Given the description of an element on the screen output the (x, y) to click on. 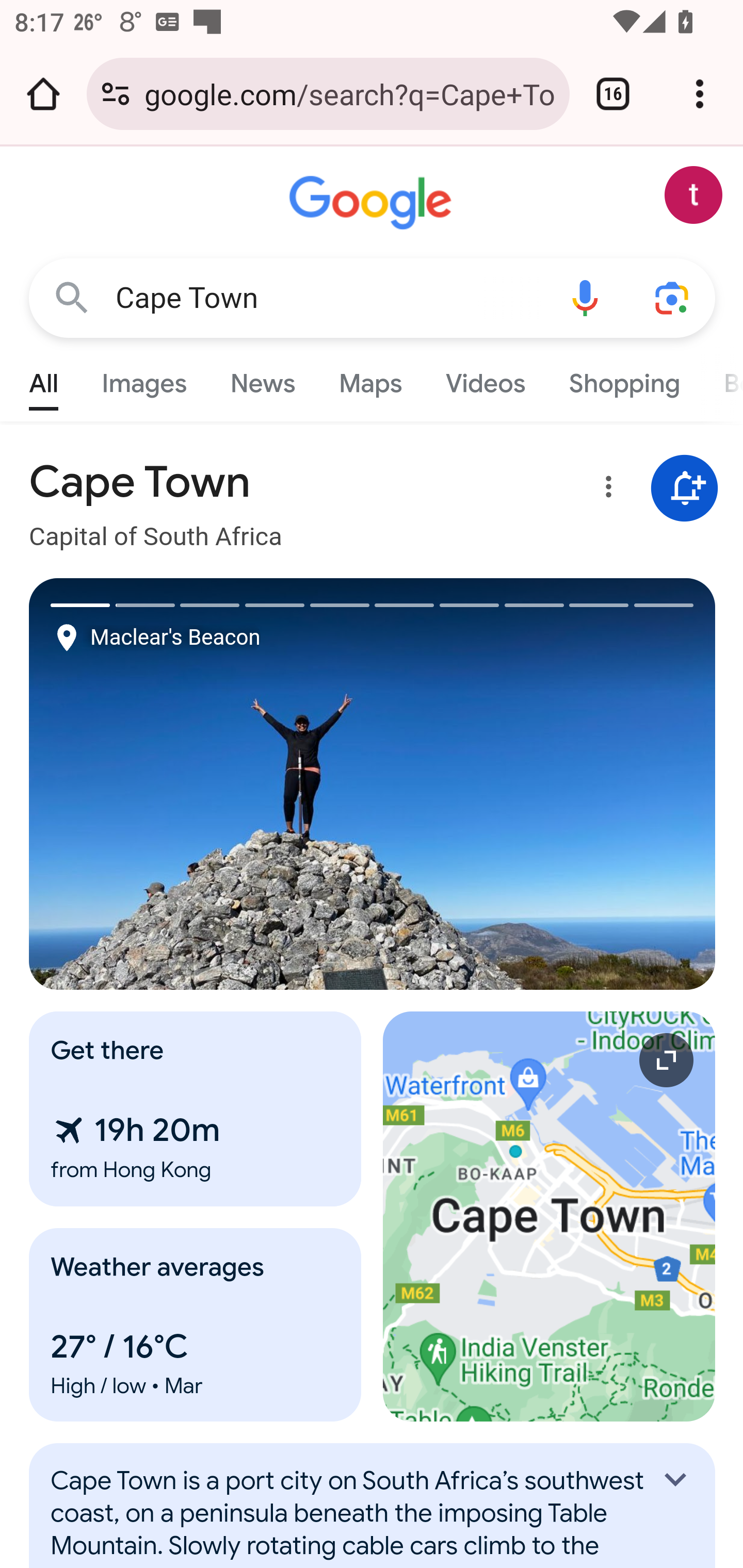
Open the home page (43, 93)
Connection is secure (115, 93)
Switch or close tabs (612, 93)
Customize and control Google Chrome (699, 93)
Google (372, 203)
Google Search (71, 296)
Search using your camera or photos (672, 296)
Cape Town (328, 297)
Images (144, 378)
News (262, 378)
Maps (369, 378)
Videos (485, 378)
Shopping (623, 378)
Get notifications about Cape Town (684, 489)
More options (605, 489)
Previous image (200, 783)
Next image (544, 783)
Expand map (549, 1216)
Weather averages 27° / 16°C High / low • Mar (195, 1324)
